Given the description of an element on the screen output the (x, y) to click on. 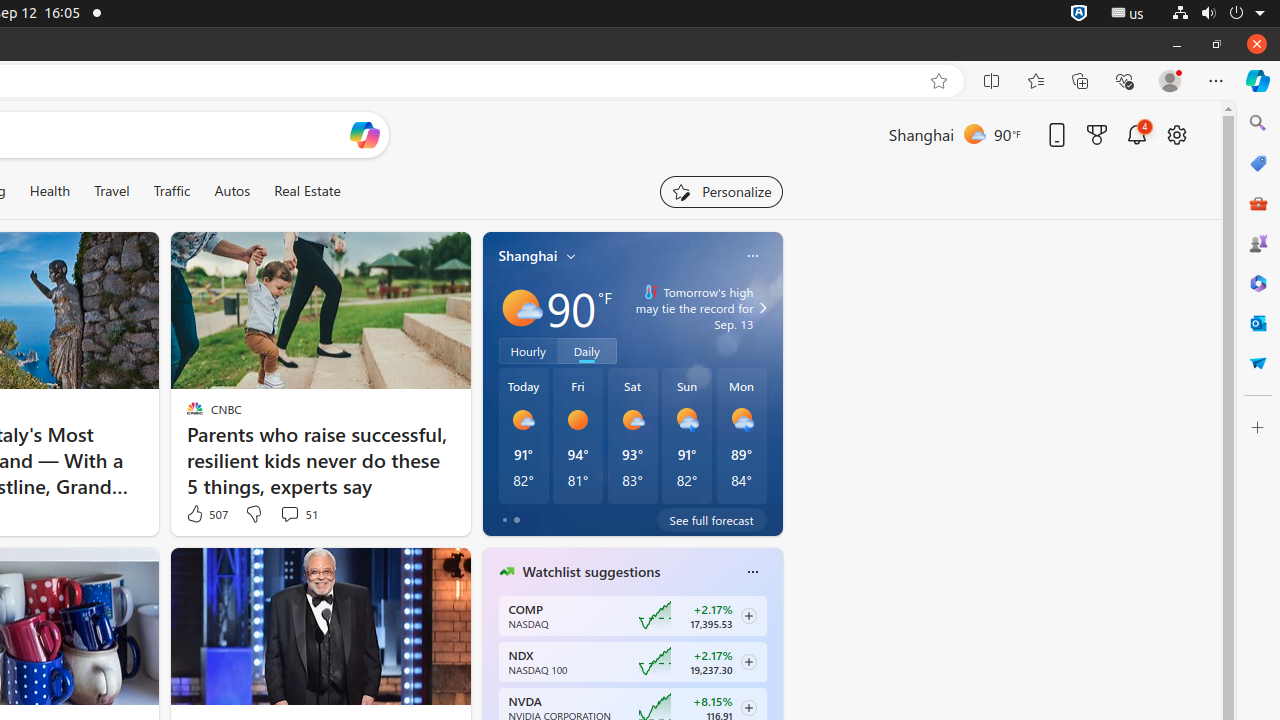
Settings and more (Alt+F) Element type: push-button (1216, 81)
Copilot (Ctrl+Shift+.) Element type: push-button (1258, 81)
Browser essentials Element type: push-button (1124, 81)
Games Element type: push-button (1258, 243)
Autos Element type: link (232, 191)
